Given the description of an element on the screen output the (x, y) to click on. 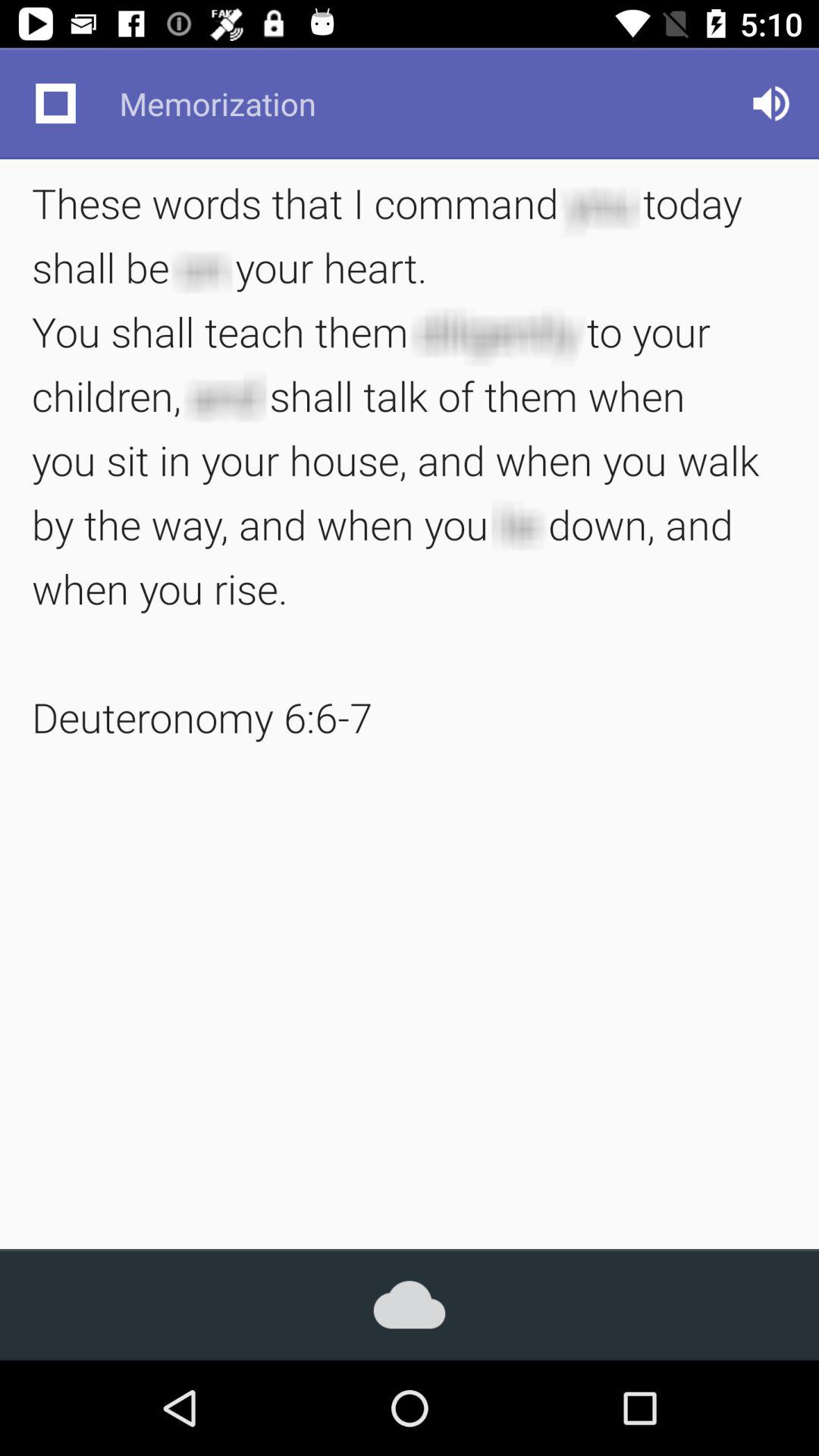
click item to the left of the memorization item (55, 103)
